Given the description of an element on the screen output the (x, y) to click on. 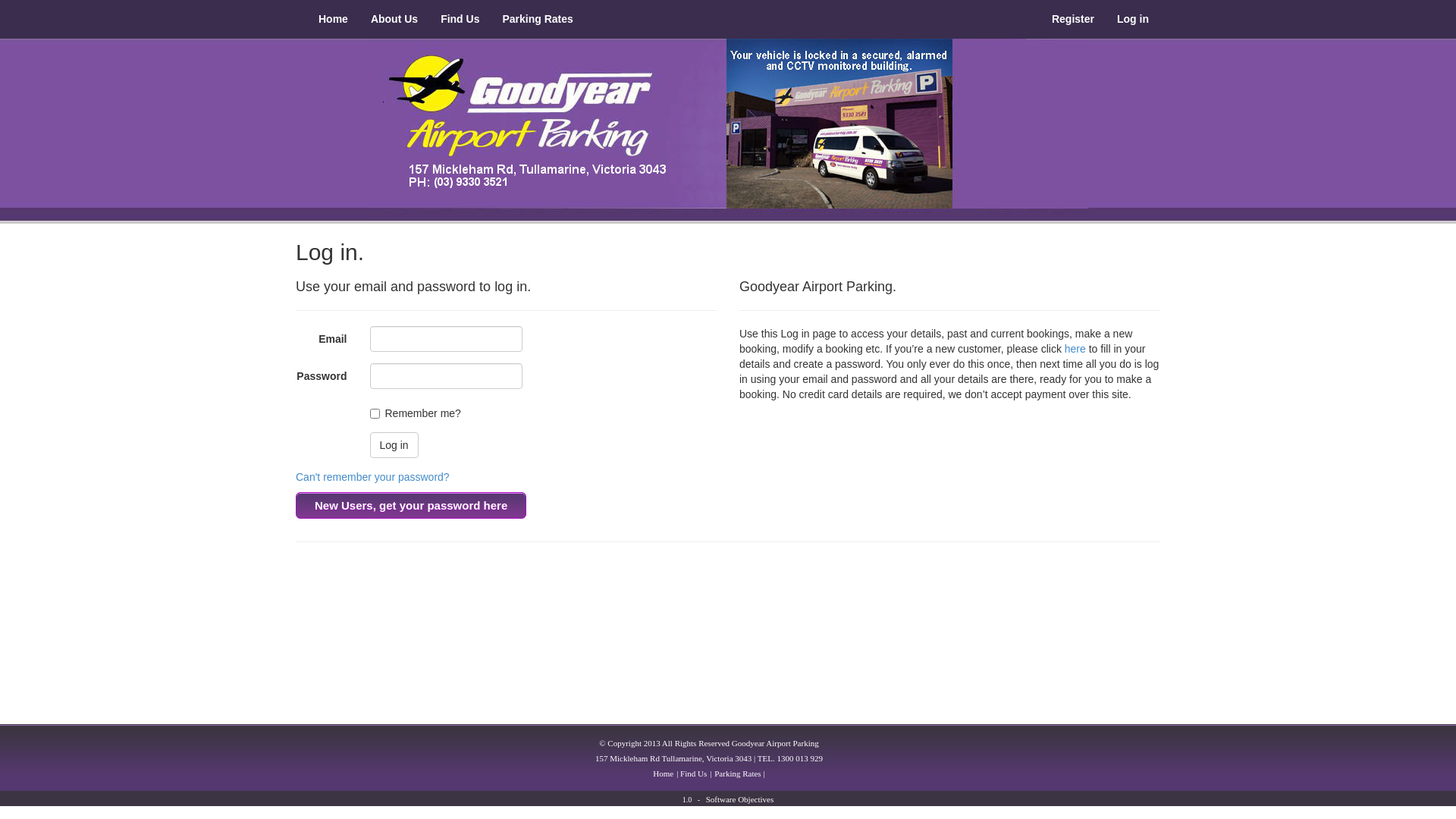
Software Objectives Element type: text (740, 798)
Log in Element type: text (394, 445)
here Element type: text (1074, 348)
Home Element type: text (662, 773)
Parking Rates Element type: text (737, 773)
Register Element type: text (1072, 18)
Can't remember your password? Element type: text (372, 476)
Find Us Element type: text (693, 773)
About Us Element type: text (394, 18)
Home Element type: text (333, 18)
New Users, get your password here Element type: text (410, 505)
Log in Element type: text (1132, 18)
Find Us Element type: text (459, 18)
Parking Rates Element type: text (536, 18)
